Given the description of an element on the screen output the (x, y) to click on. 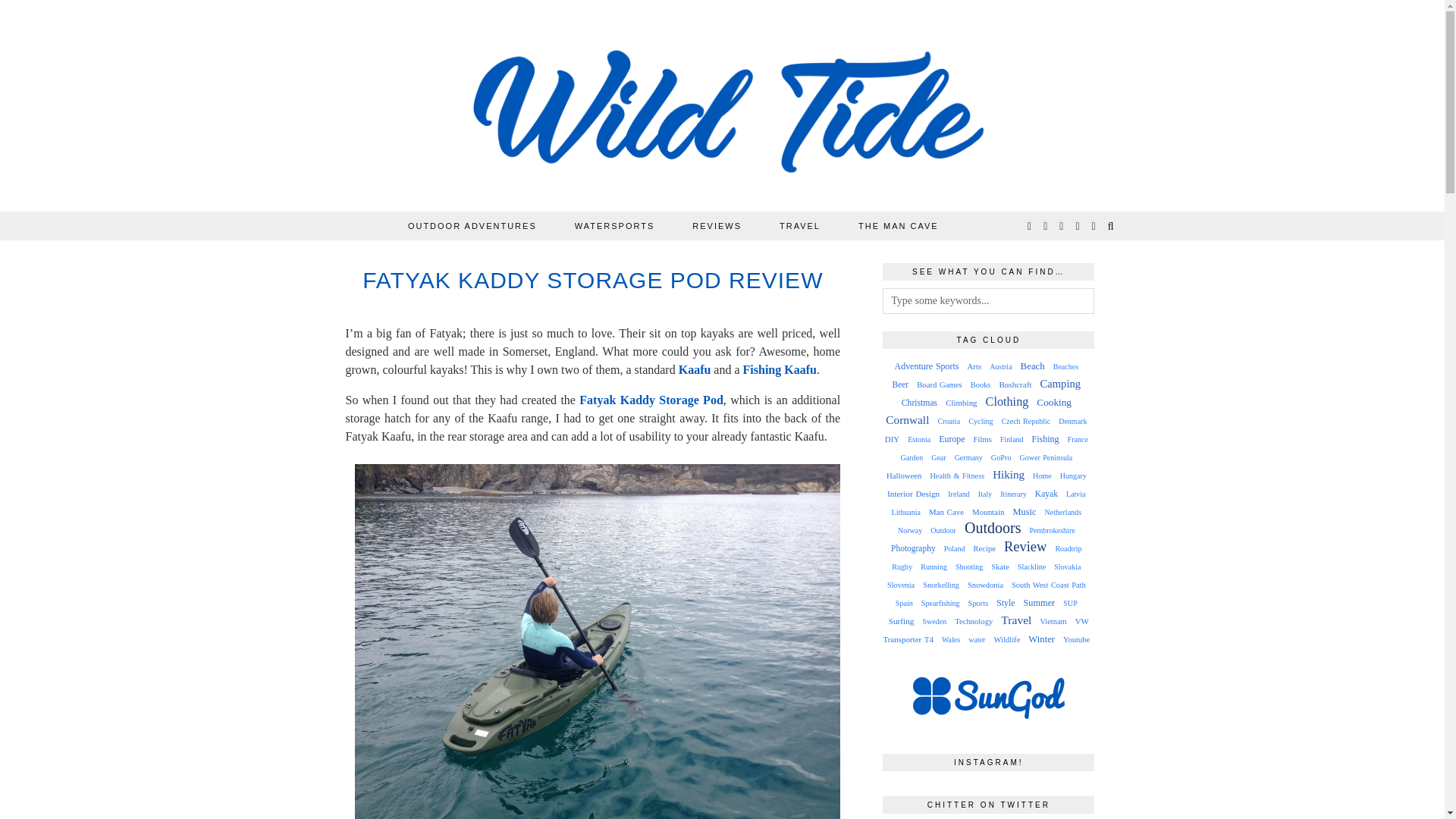
instagram (1045, 225)
bloglovin (1077, 225)
facebook (1061, 225)
twitter (1029, 225)
Wild Tide (722, 108)
